Given the description of an element on the screen output the (x, y) to click on. 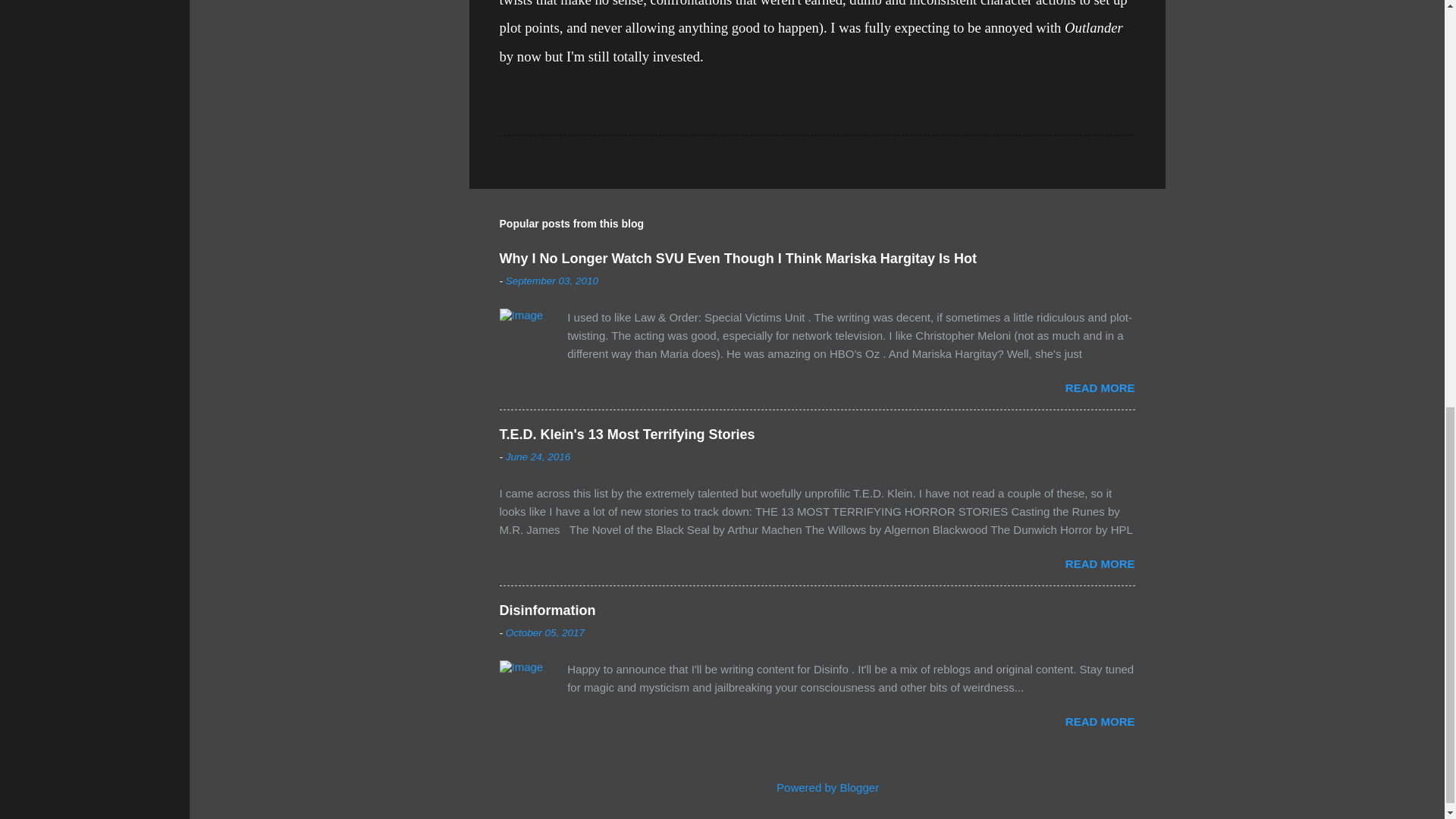
T.E.D. Klein's 13 Most Terrifying Stories (626, 434)
permanent link (551, 280)
READ MORE (1100, 721)
Powered by Blogger (817, 787)
October 05, 2017 (545, 632)
READ MORE (1100, 563)
June 24, 2016 (537, 456)
September 03, 2010 (551, 280)
READ MORE (1100, 387)
Disinformation (547, 610)
